Given the description of an element on the screen output the (x, y) to click on. 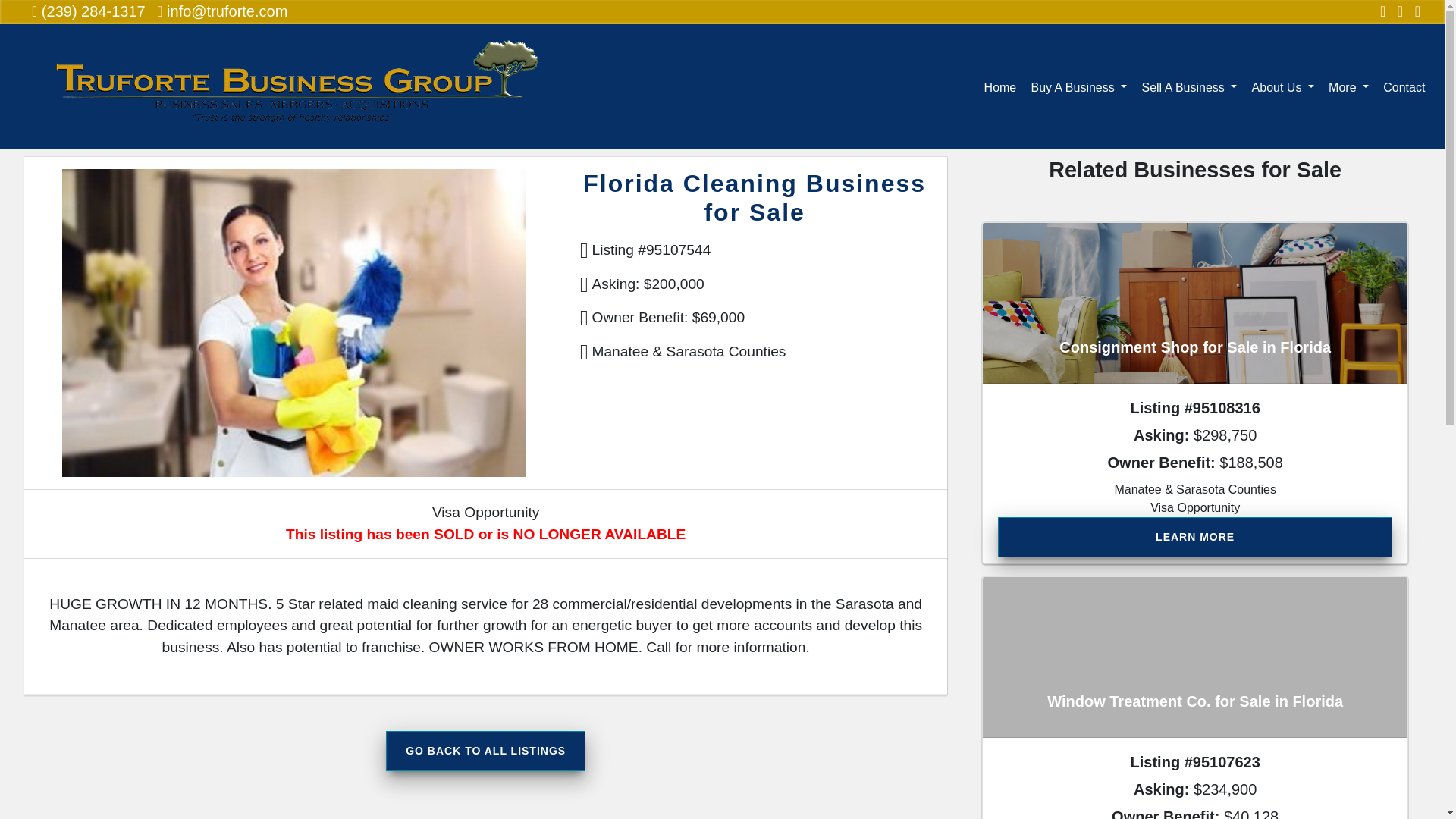
Contact (1403, 86)
Buy A Business (1078, 86)
Sell A Business (1189, 86)
Home (999, 86)
About Us (1283, 86)
Home (56, 133)
More (1347, 86)
English (1345, 131)
